Given the description of an element on the screen output the (x, y) to click on. 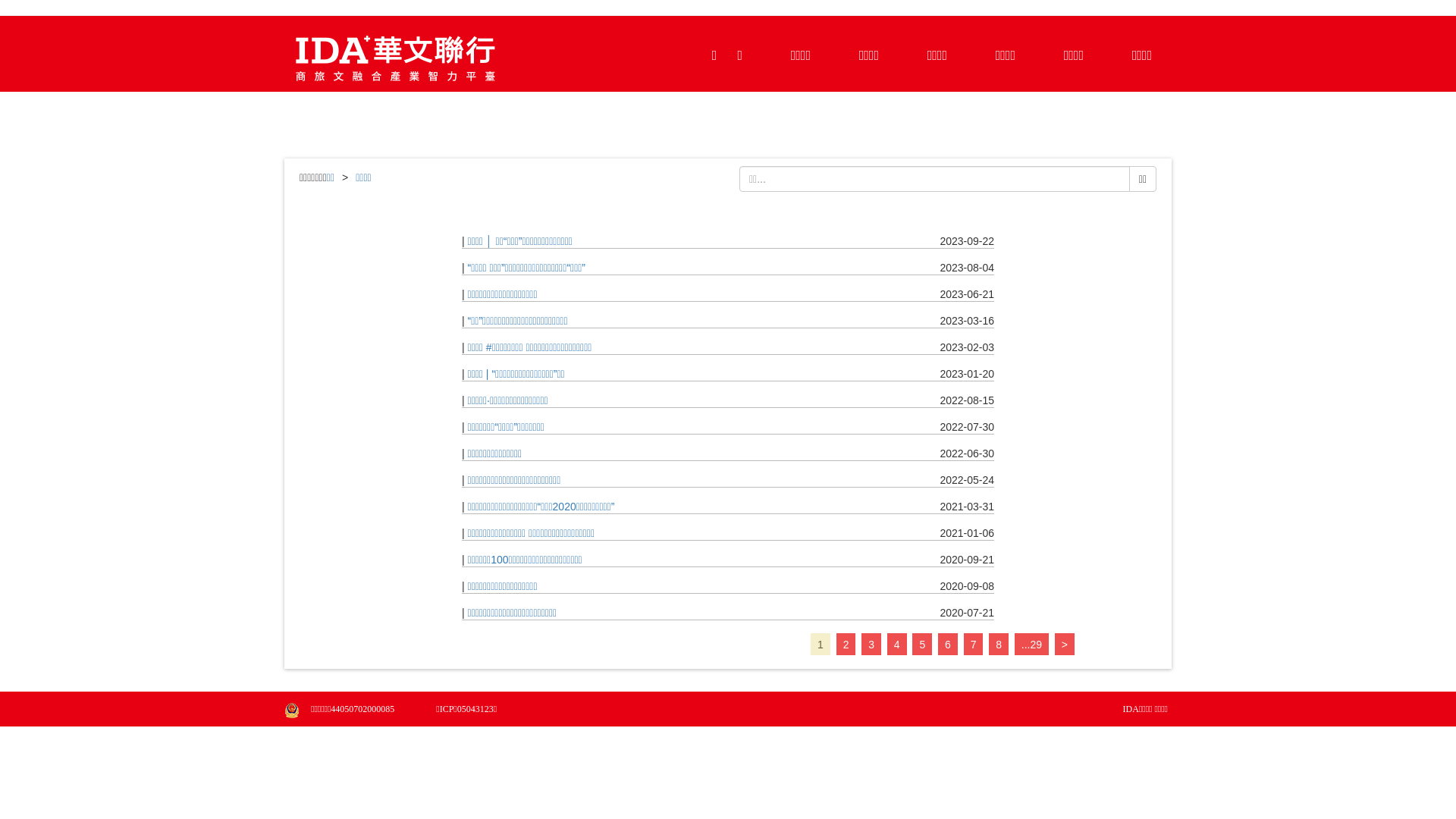
> Element type: text (1064, 644)
8 Element type: text (998, 644)
4 Element type: text (896, 644)
3 Element type: text (871, 644)
5 Element type: text (921, 644)
7 Element type: text (973, 644)
...29 Element type: text (1031, 644)
6 Element type: text (947, 644)
2 Element type: text (846, 644)
